Given the description of an element on the screen output the (x, y) to click on. 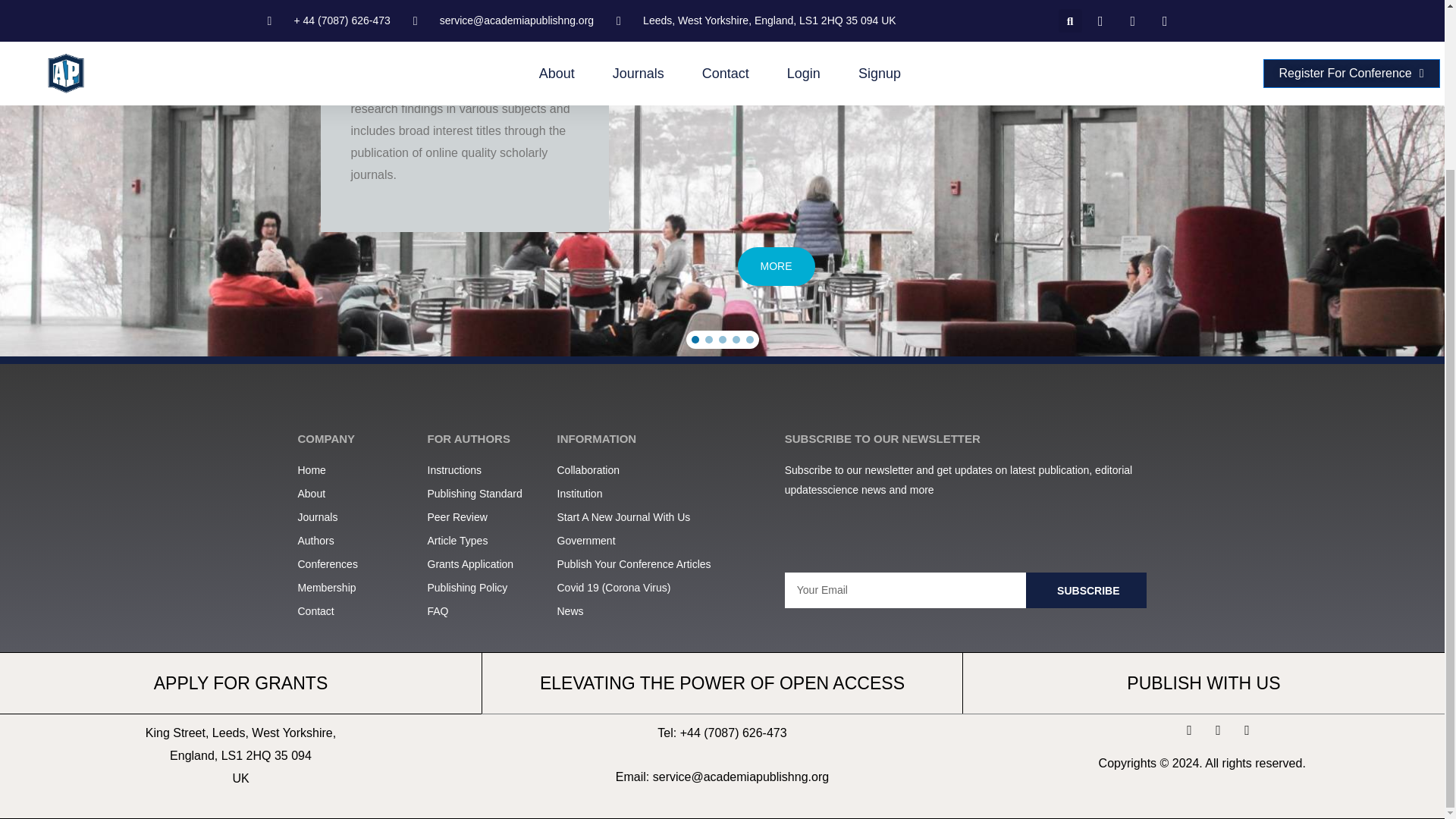
Journals (354, 517)
Conferences (354, 564)
Membership (354, 588)
Authors (354, 541)
MORE (774, 266)
Contact (354, 611)
Home (354, 470)
Publishing Standard (484, 494)
About (354, 494)
Instructions (484, 470)
